Given the description of an element on the screen output the (x, y) to click on. 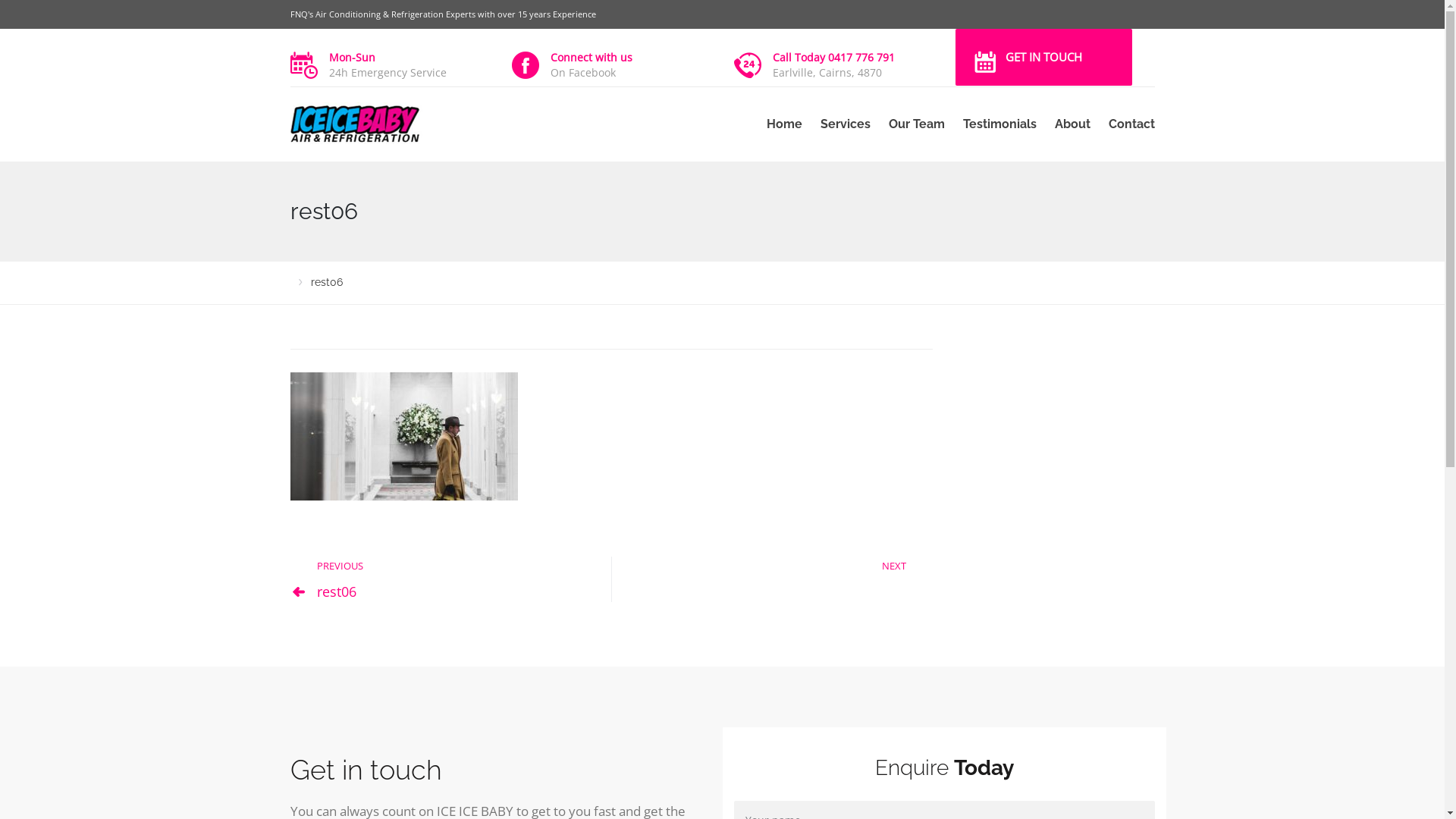
iibaby-logo Element type: hover (388, 124)
Contact Element type: text (1126, 123)
About Element type: text (1071, 123)
Connect with us Element type: text (591, 57)
Our Team Element type: text (916, 123)
Testimonials Element type: text (999, 123)
rest06 Element type: text (336, 591)
Services Element type: text (845, 123)
Call Today 0417 776 791 Element type: text (832, 57)
Home Element type: text (783, 123)
GET IN TOUCH Element type: text (1043, 56)
